Given the description of an element on the screen output the (x, y) to click on. 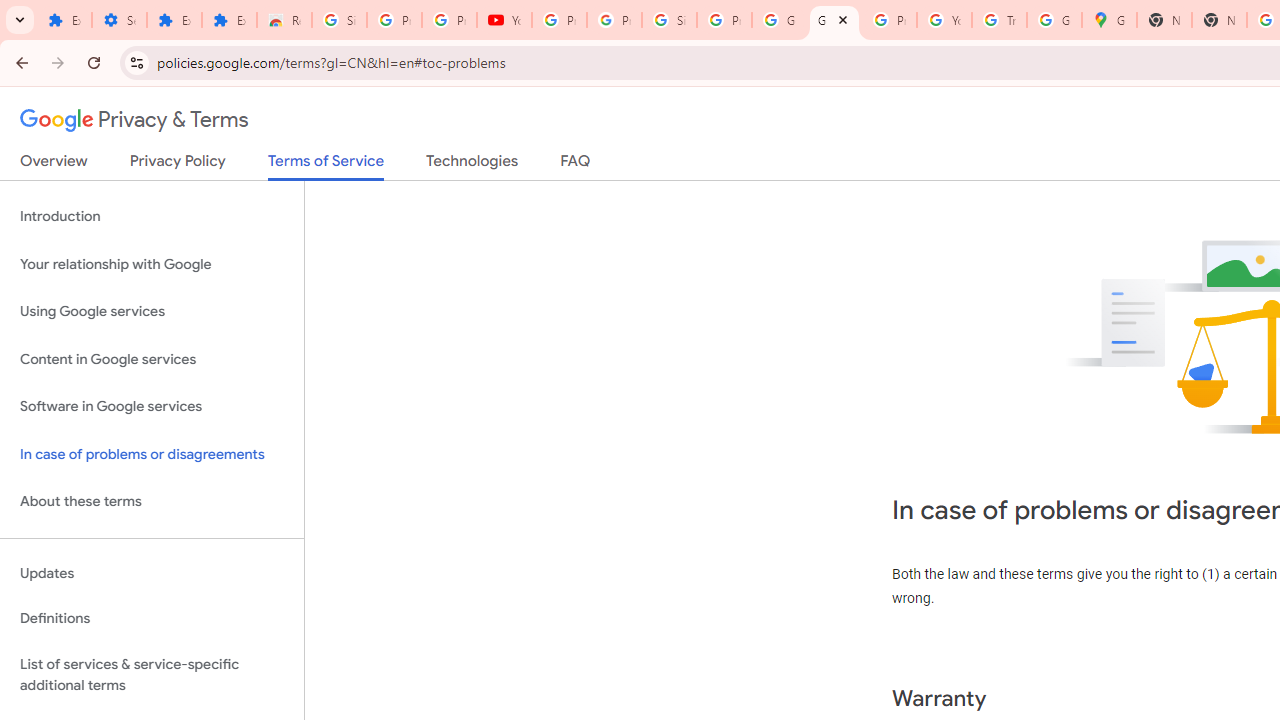
YouTube (504, 20)
Sign in - Google Accounts (669, 20)
Using Google services (152, 312)
New Tab (1163, 20)
